Given the description of an element on the screen output the (x, y) to click on. 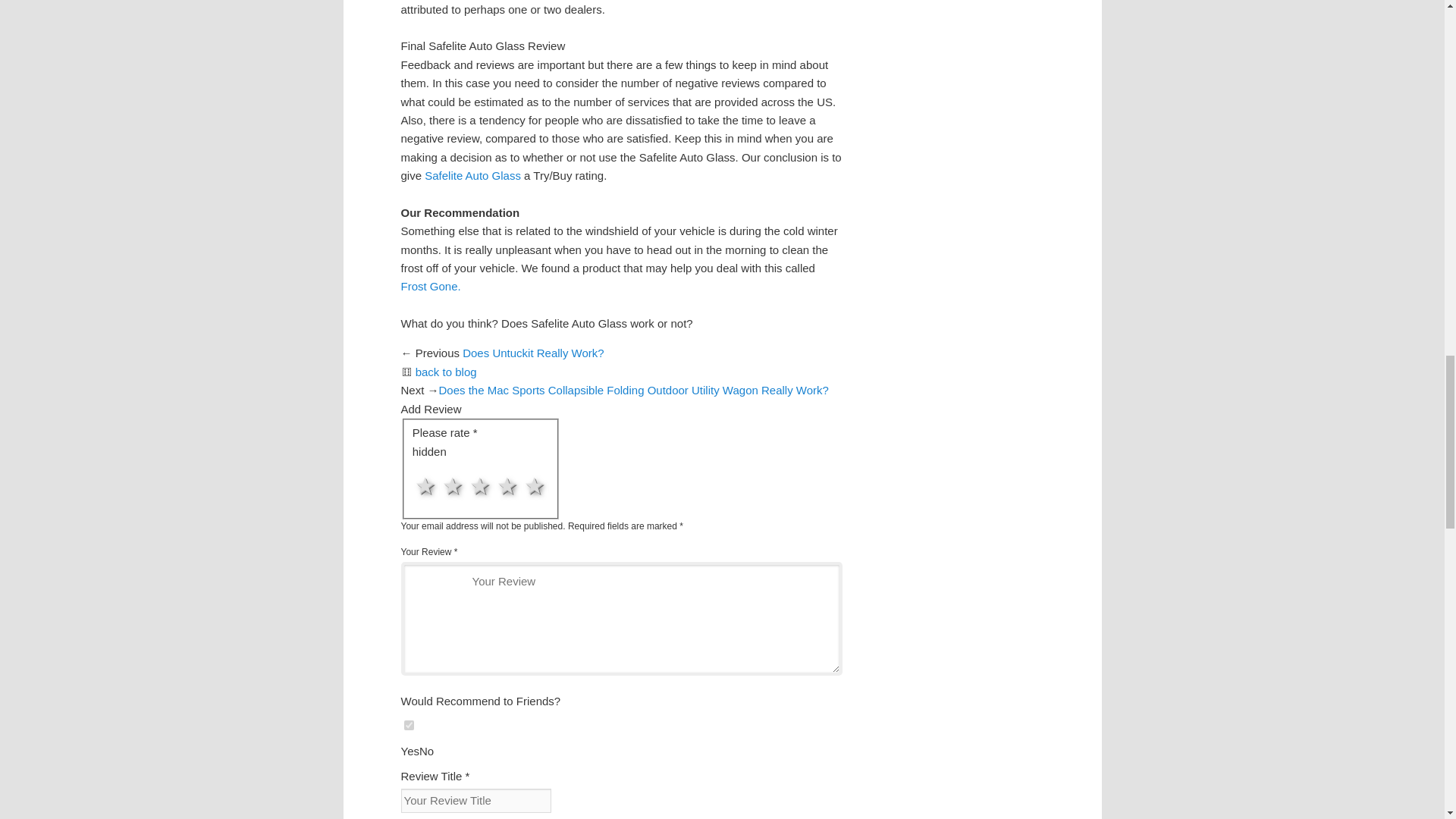
Does Untuckit Really Work? (532, 352)
Safelite Auto Glass (474, 174)
5 (421, 468)
1 (421, 468)
2 (421, 468)
1 (408, 725)
back to blog (445, 371)
3 (421, 468)
4 (421, 468)
